Given the description of an element on the screen output the (x, y) to click on. 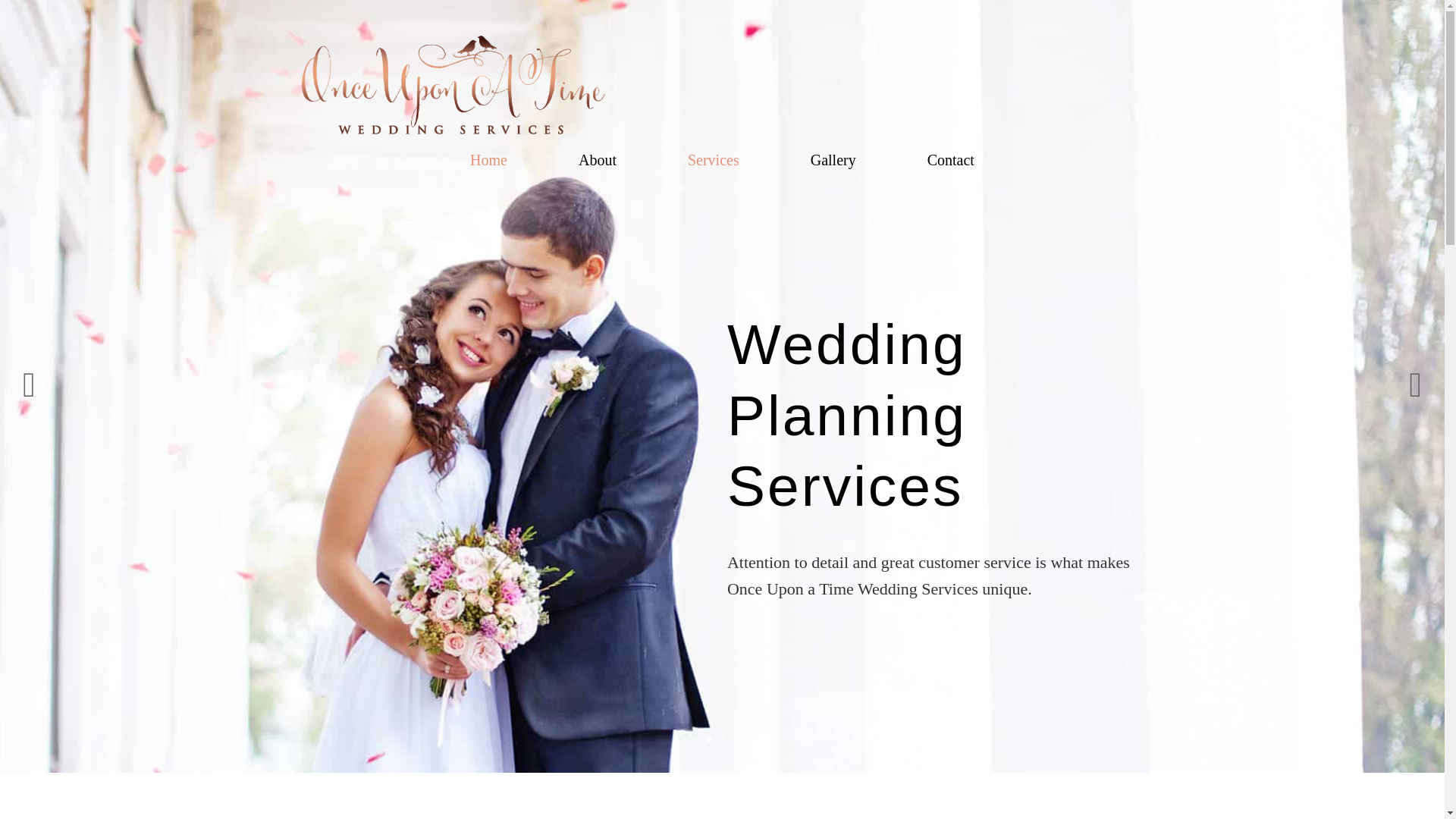
Services (713, 159)
3 (735, 739)
Gallery (833, 159)
Contact (950, 159)
About (597, 159)
Home (488, 159)
1 (708, 739)
2 (722, 739)
